Given the description of an element on the screen output the (x, y) to click on. 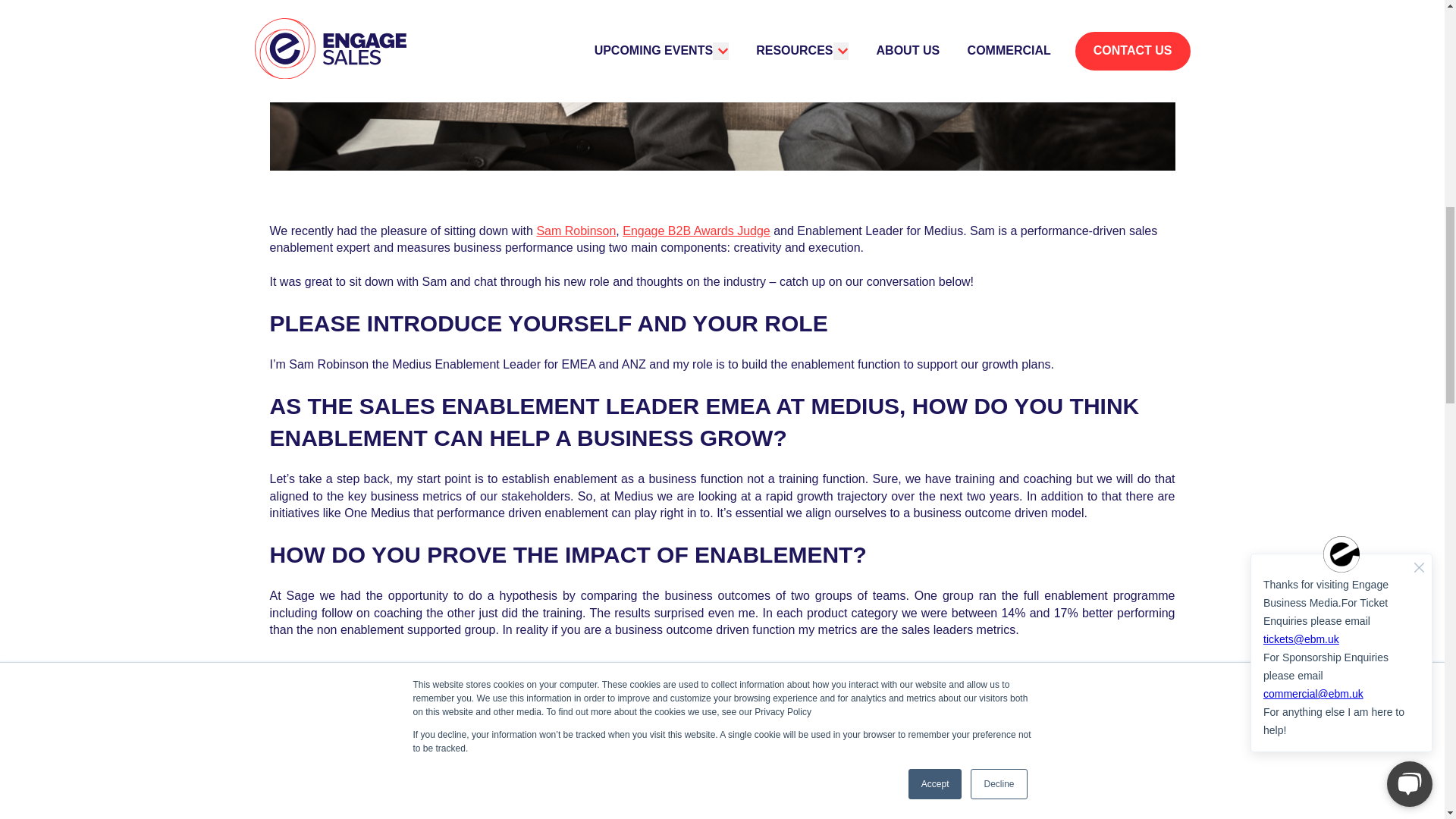
Sam Robinson (575, 230)
Engage B2B Awards Judge (696, 230)
